Given the description of an element on the screen output the (x, y) to click on. 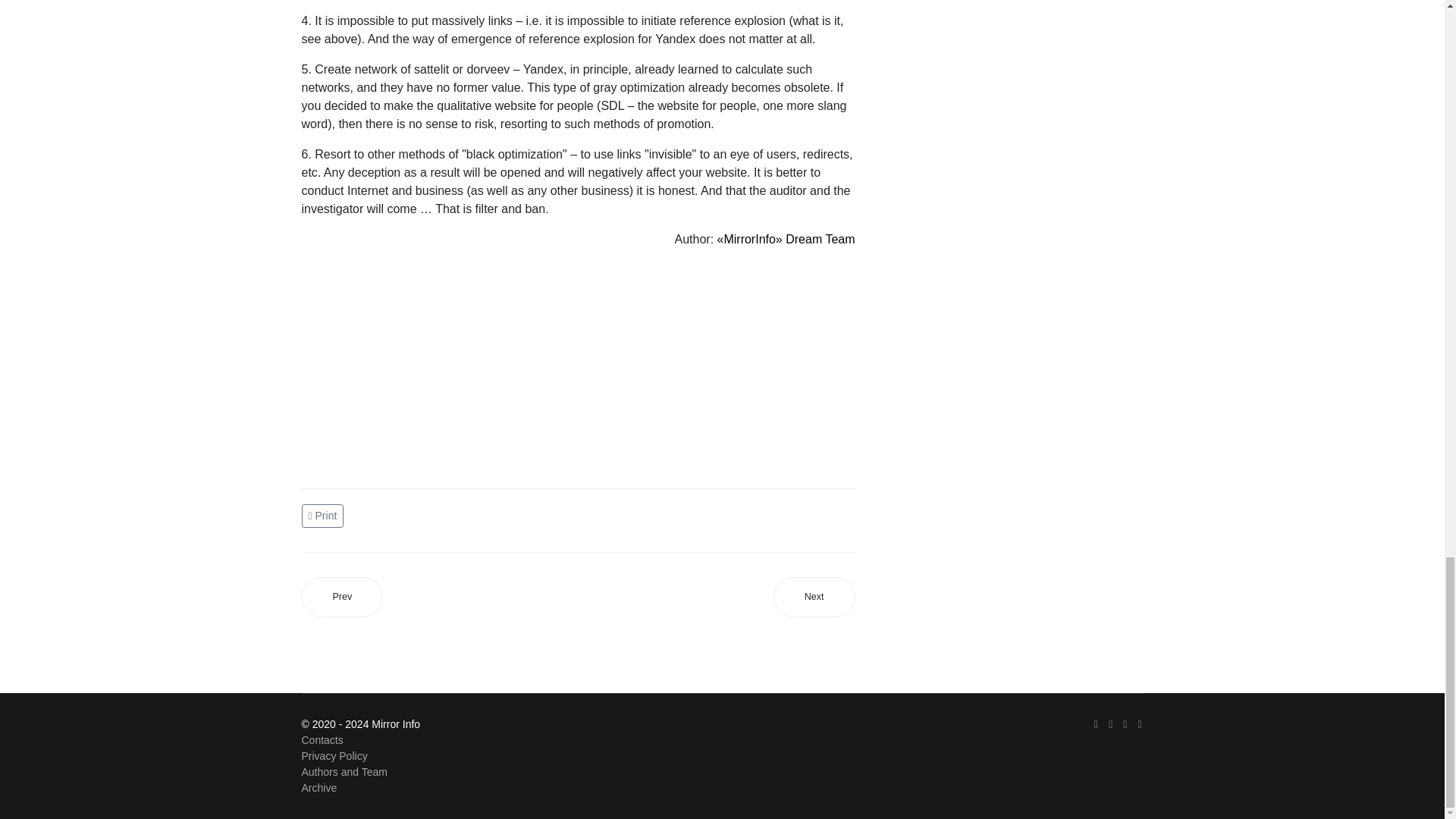
Next (814, 597)
Prev (342, 597)
Print (324, 513)
